Given the description of an element on the screen output the (x, y) to click on. 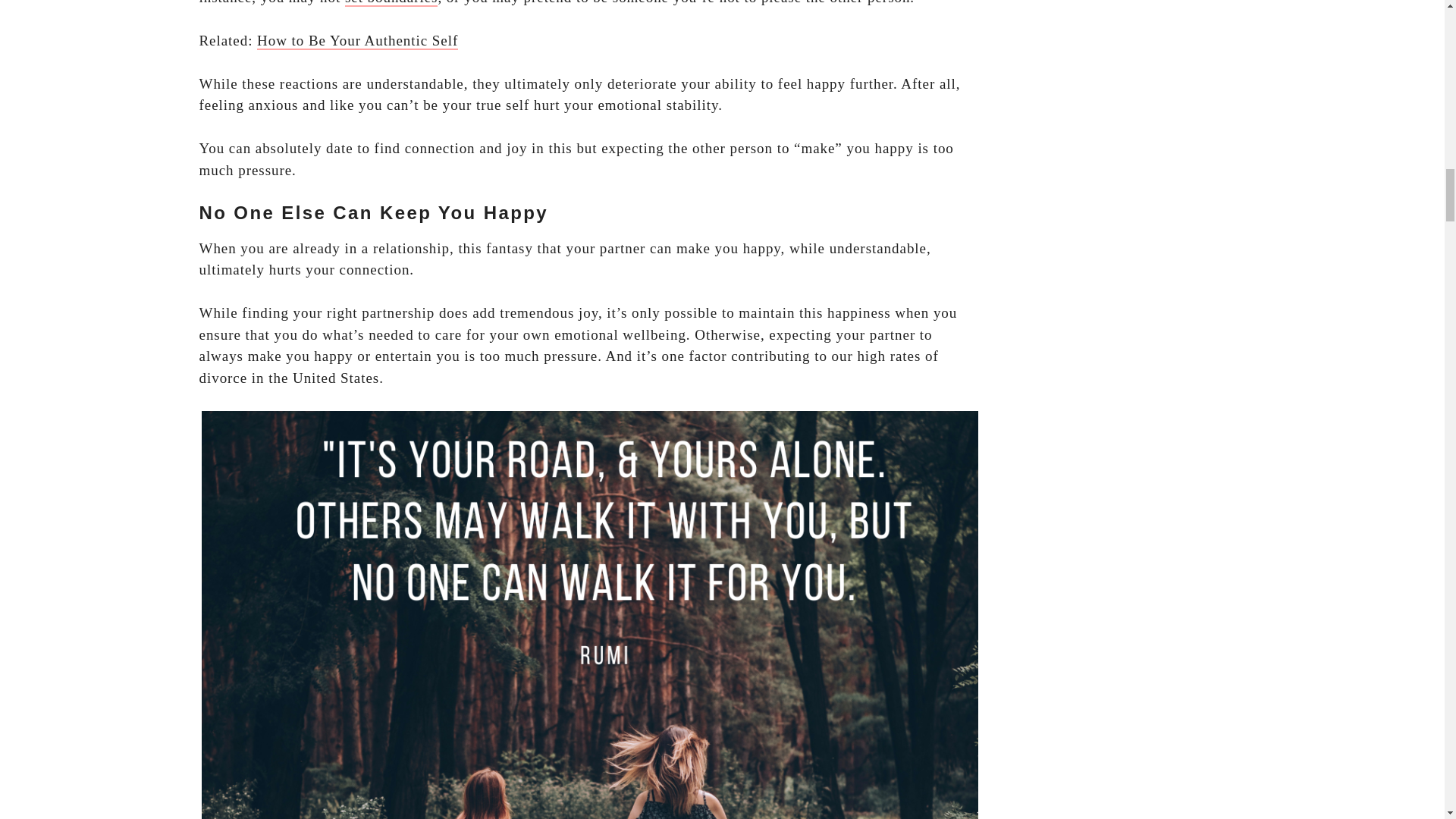
How to Be Your Authentic Self (357, 40)
set boundaries (391, 3)
